Given the description of an element on the screen output the (x, y) to click on. 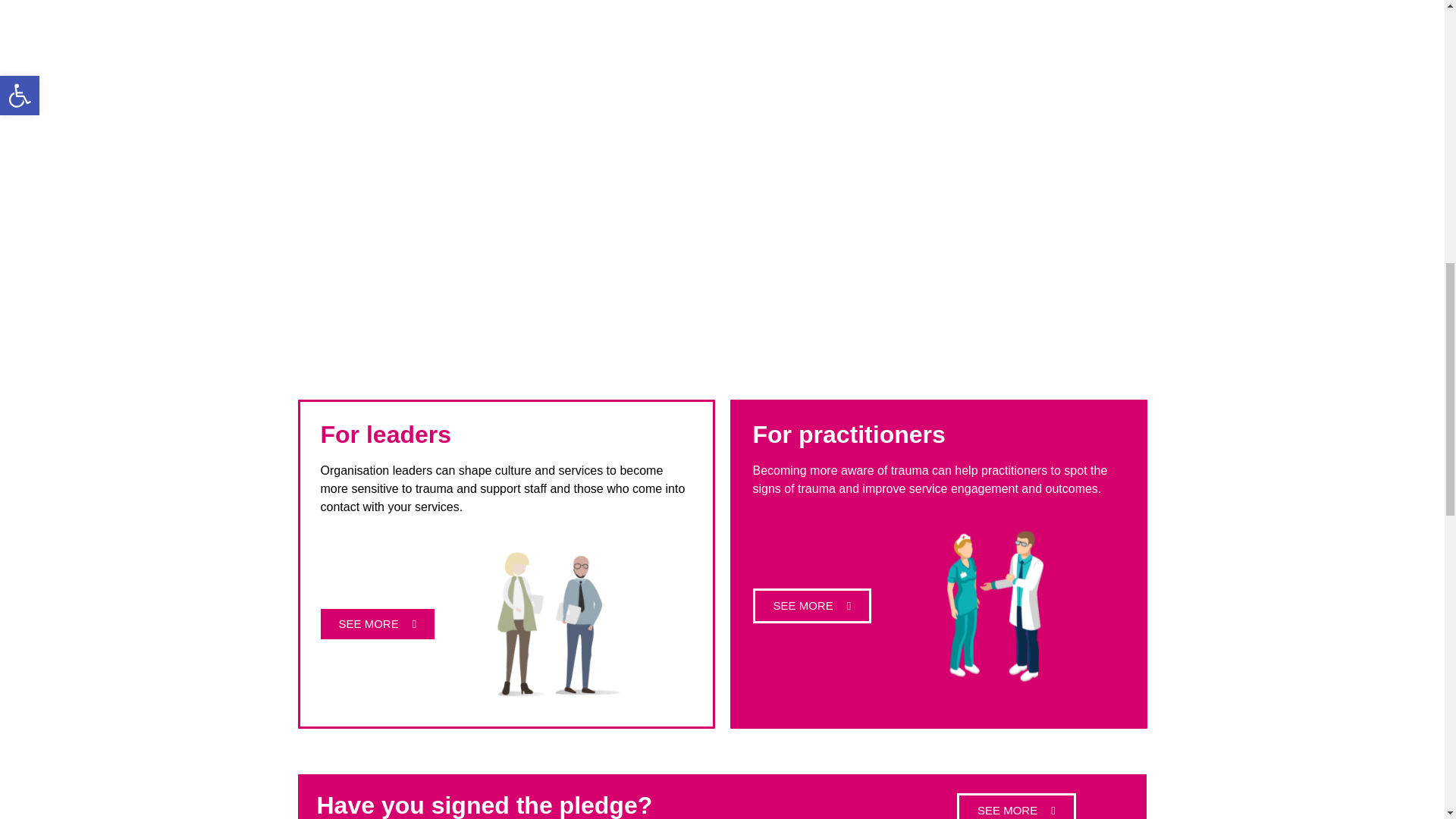
SEE MORE (1015, 806)
SEE MORE (376, 624)
SEE MORE (811, 605)
